Given the description of an element on the screen output the (x, y) to click on. 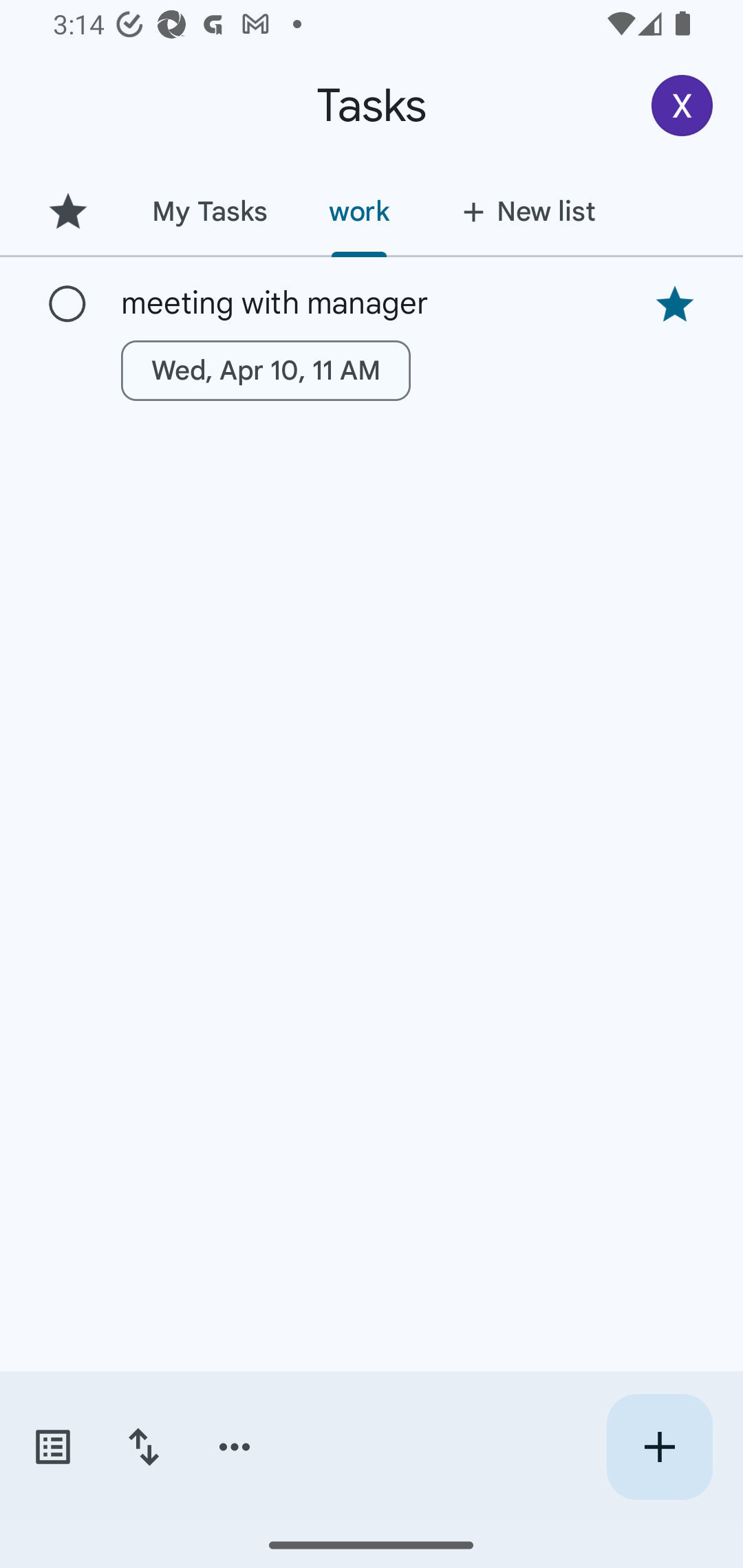
Starred (67, 211)
My Tasks (209, 211)
New list (523, 211)
Remove star (674, 303)
Mark as complete (67, 304)
Wed, Apr 10, 11 AM (265, 369)
Switch task lists (52, 1447)
Create new task (659, 1446)
Change sort order (143, 1446)
More options (234, 1446)
